Given the description of an element on the screen output the (x, y) to click on. 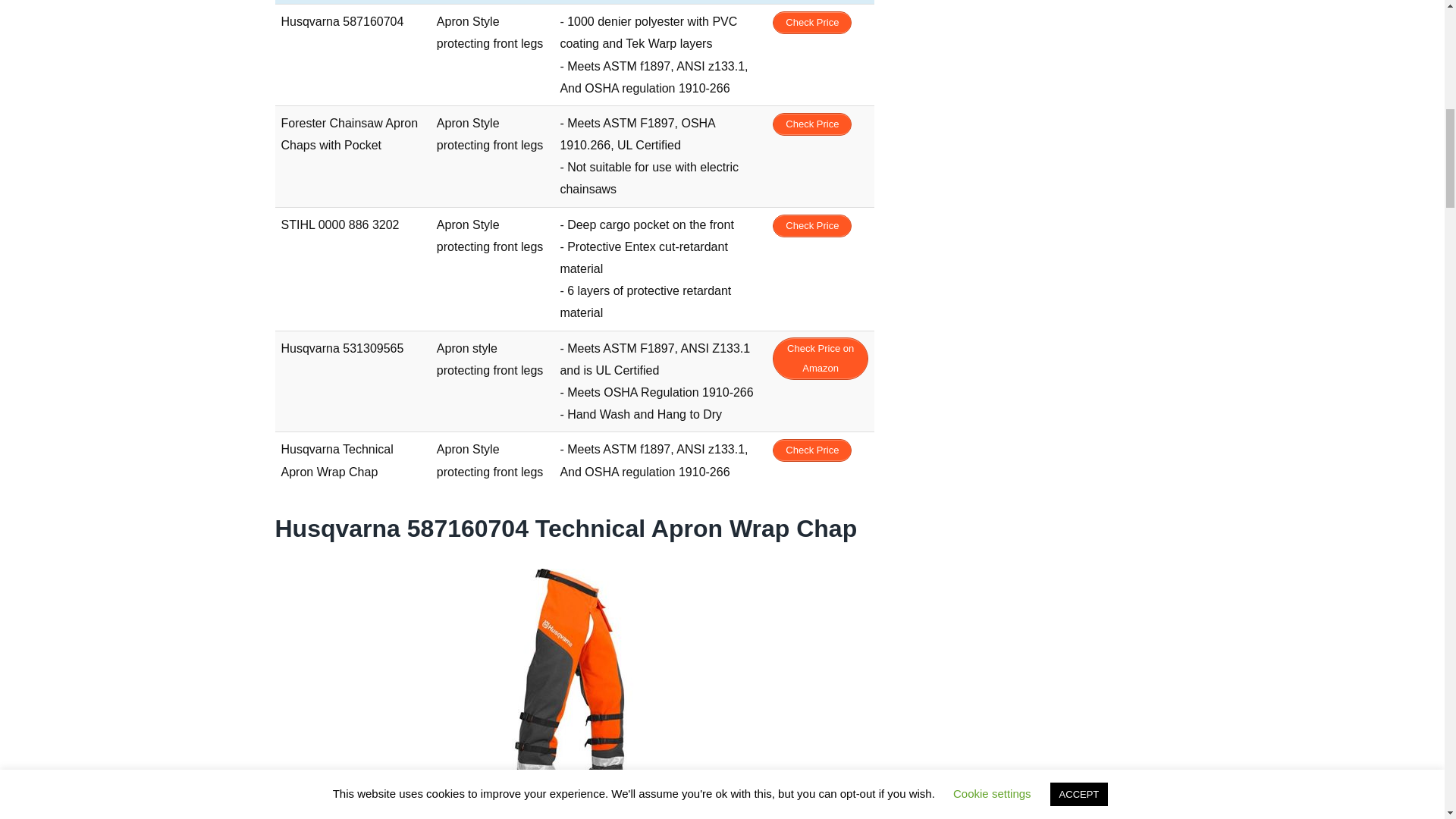
Check Price (812, 22)
Check Price on Amazon (820, 358)
Check Price (812, 449)
Check Price (812, 225)
Check Price (812, 124)
